Given the description of an element on the screen output the (x, y) to click on. 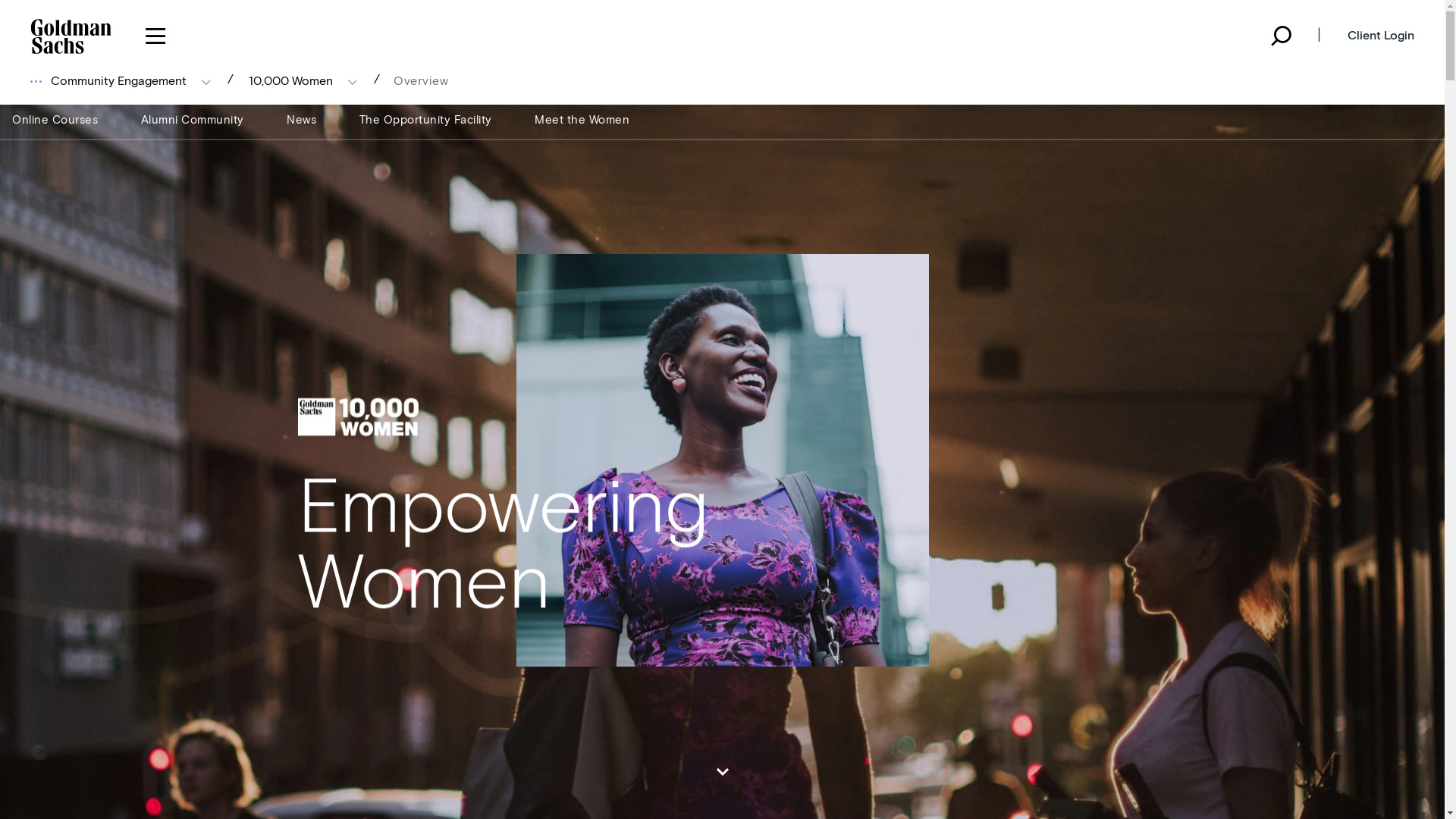
Community Engagement Element type: text (130, 80)
gs header search open Element type: hover (1280, 36)
Client Login Element type: text (1376, 36)
Meet the Women Element type: text (581, 119)
Online Courses Element type: text (54, 119)
The Opportunity Facility Element type: text (425, 119)
10,000 Women Element type: text (302, 80)
News Element type: text (301, 119)
Alumni Community Element type: text (192, 119)
